Given the description of an element on the screen output the (x, y) to click on. 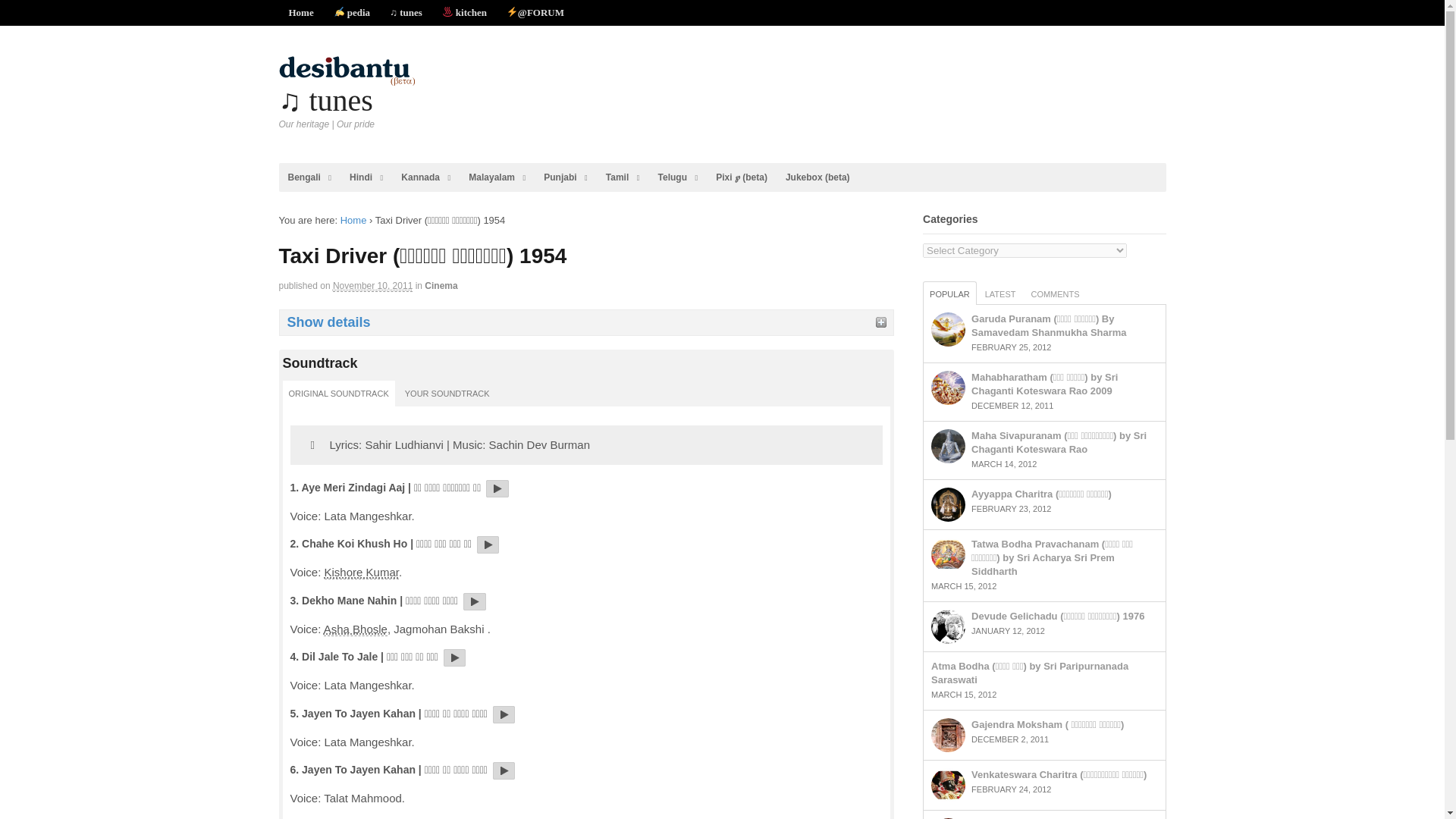
Hindi (365, 176)
Desibantu (301, 12)
Cinema (441, 285)
Show details (586, 322)
2011-11-10T02:00:16-0800 (372, 285)
Malayalam (497, 176)
Abhas Kumar Ganguly (361, 572)
Tamil (622, 176)
Home (301, 12)
Kannada (425, 176)
Bengali (309, 176)
Home (353, 220)
View all items in Cinema (441, 285)
pedia (351, 12)
Asha Mangeshkar (355, 629)
